Given the description of an element on the screen output the (x, y) to click on. 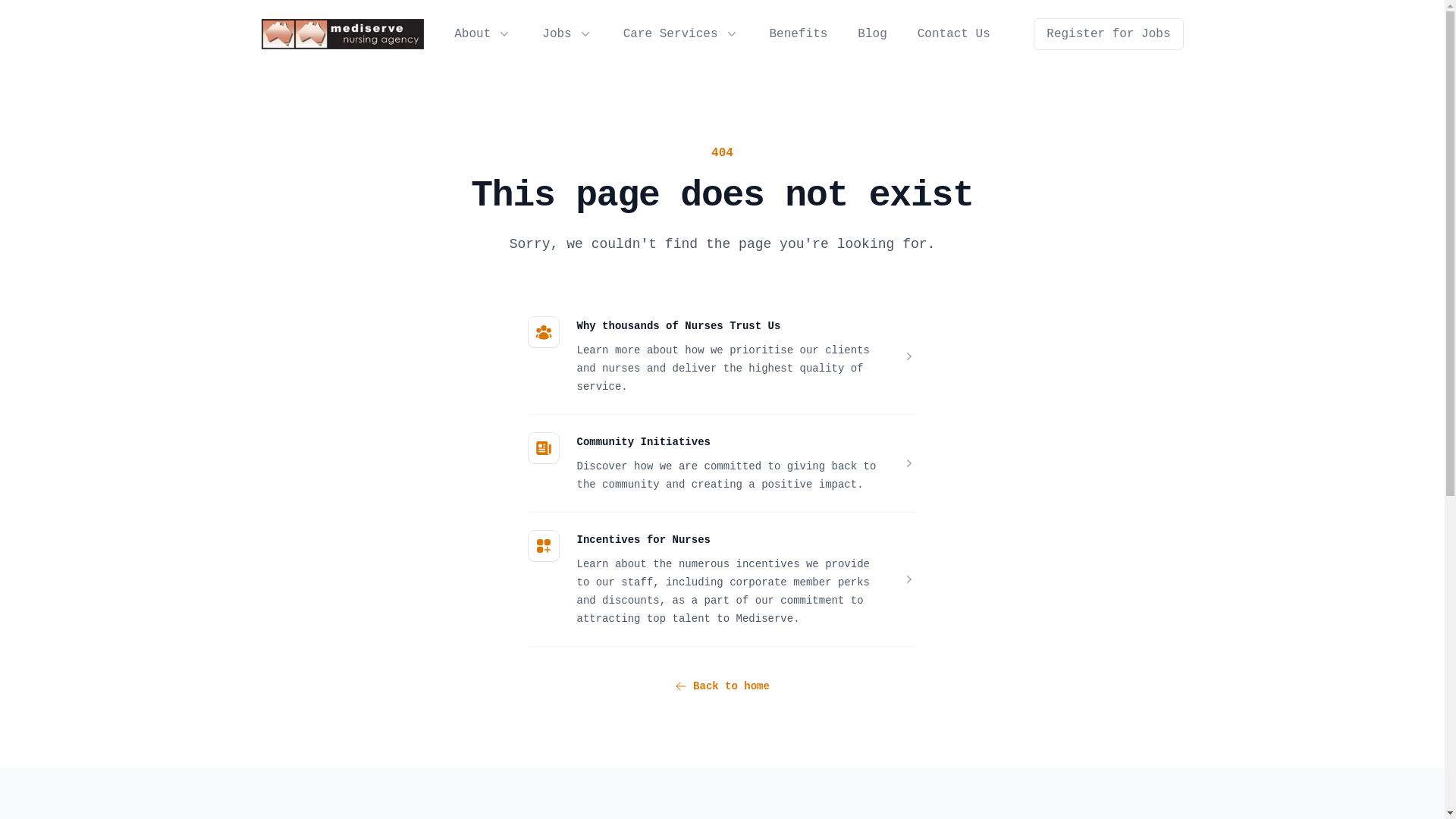
Care Services Element type: text (670, 34)
Back to home Element type: text (721, 686)
Community Initiatives Element type: text (642, 442)
Why thousands of Nurses Trust Us Element type: text (678, 326)
Mediserve Element type: text (341, 33)
Contact Us Element type: text (953, 34)
Jobs Element type: text (556, 34)
Care Services Element type: text (681, 34)
Register for Jobs Element type: text (1108, 34)
About Element type: text (482, 34)
Benefits Element type: text (798, 34)
About Element type: text (472, 34)
Incentives for Nurses Element type: text (642, 539)
Jobs Element type: text (567, 34)
Blog Element type: text (871, 34)
